Given the description of an element on the screen output the (x, y) to click on. 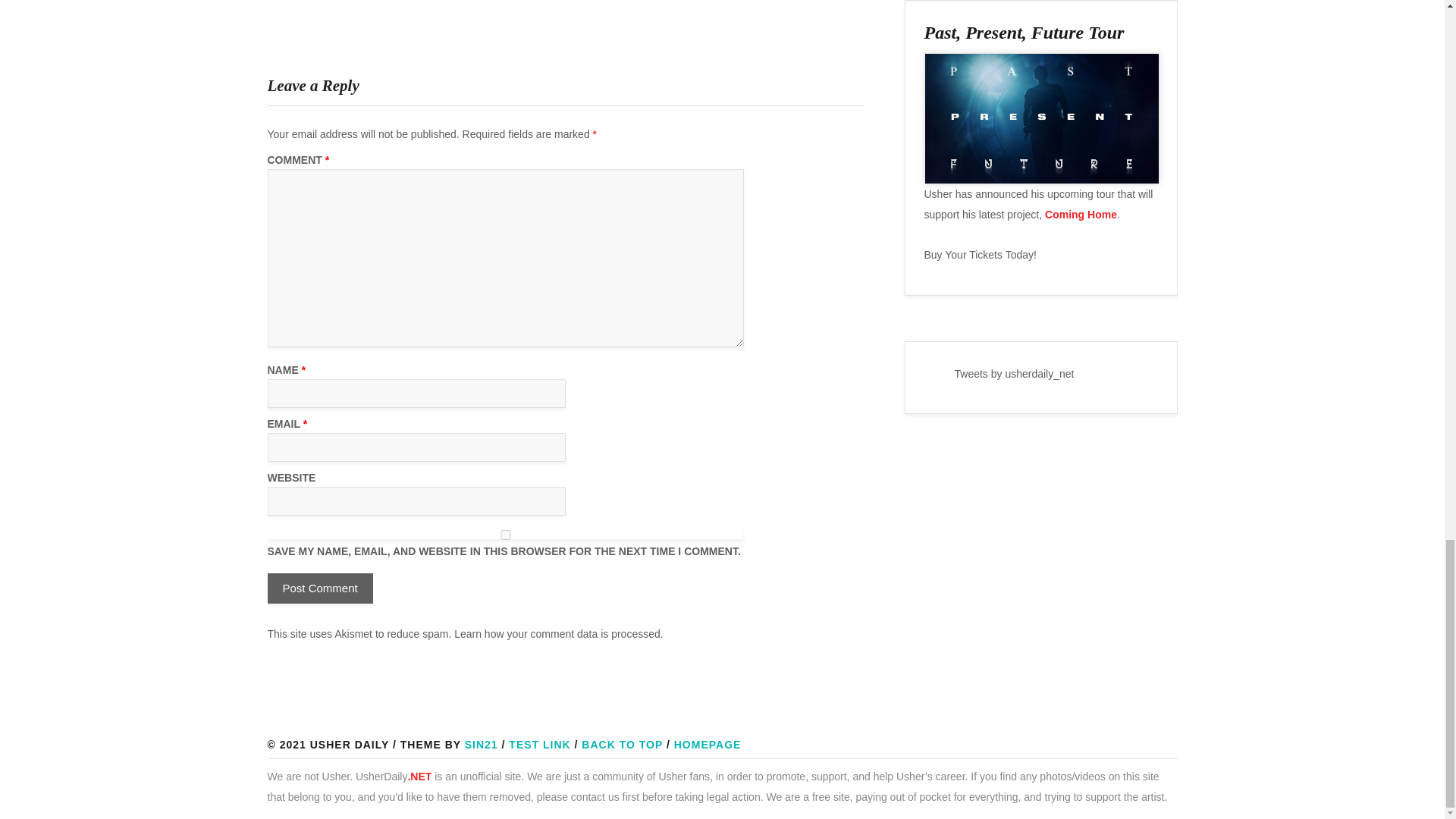
yes (505, 534)
Post Comment (319, 588)
